Given the description of an element on the screen output the (x, y) to click on. 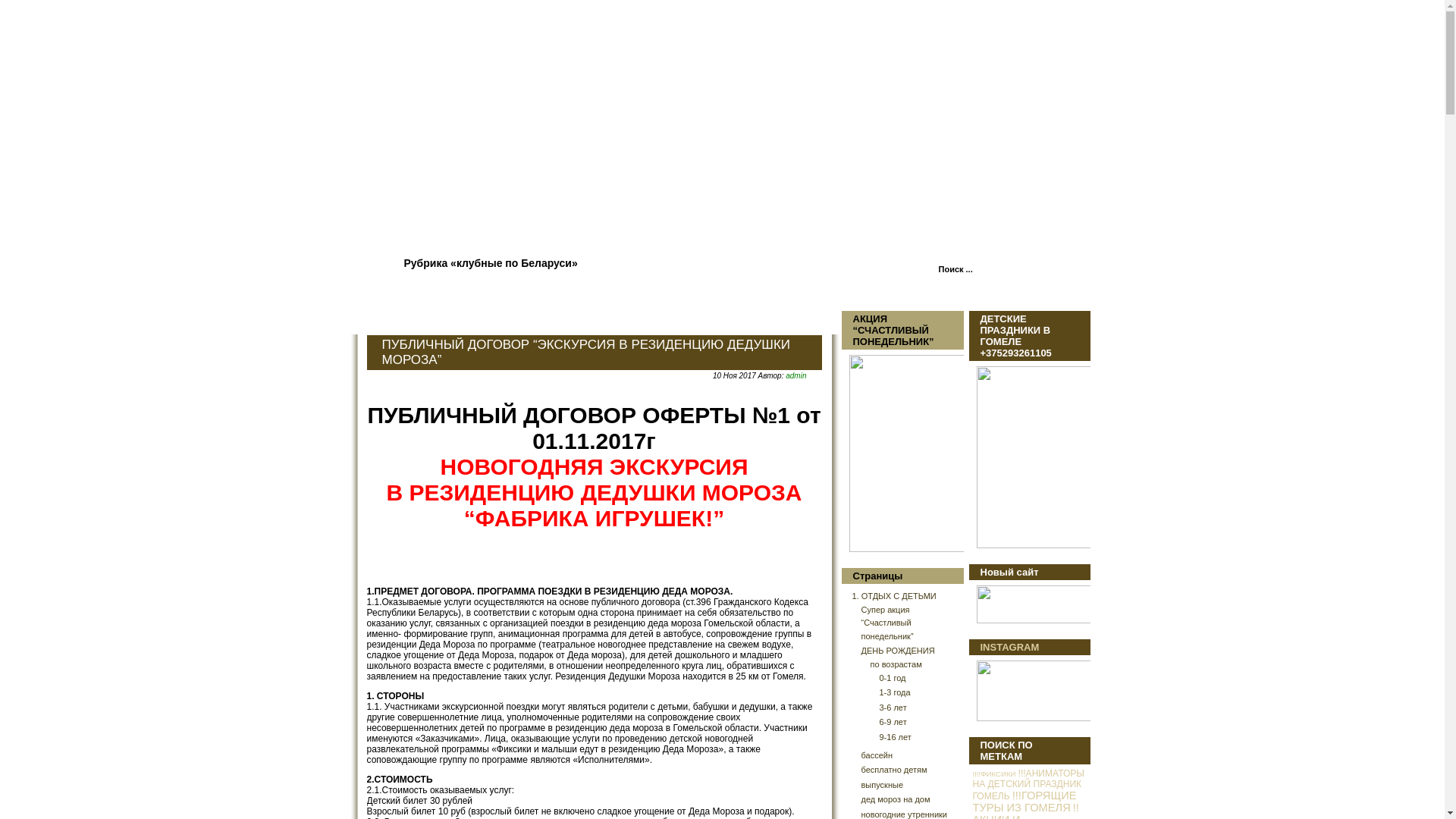
admin Element type: text (795, 375)
INSTA Element type: hover (1032, 690)
INSTAGRAM Element type: text (1008, 646)
